Given the description of an element on the screen output the (x, y) to click on. 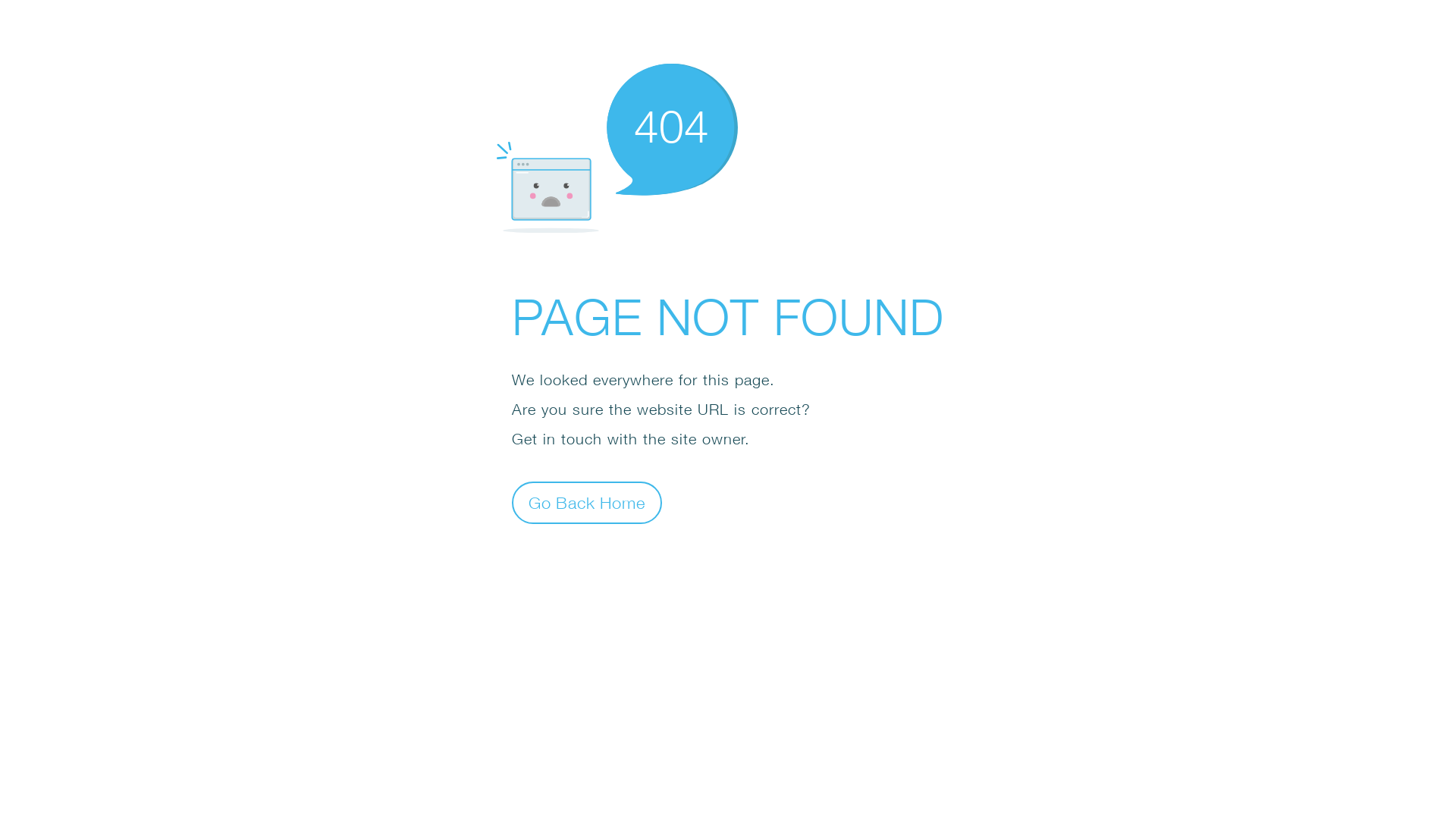
Go Back Home Element type: text (586, 502)
